Given the description of an element on the screen output the (x, y) to click on. 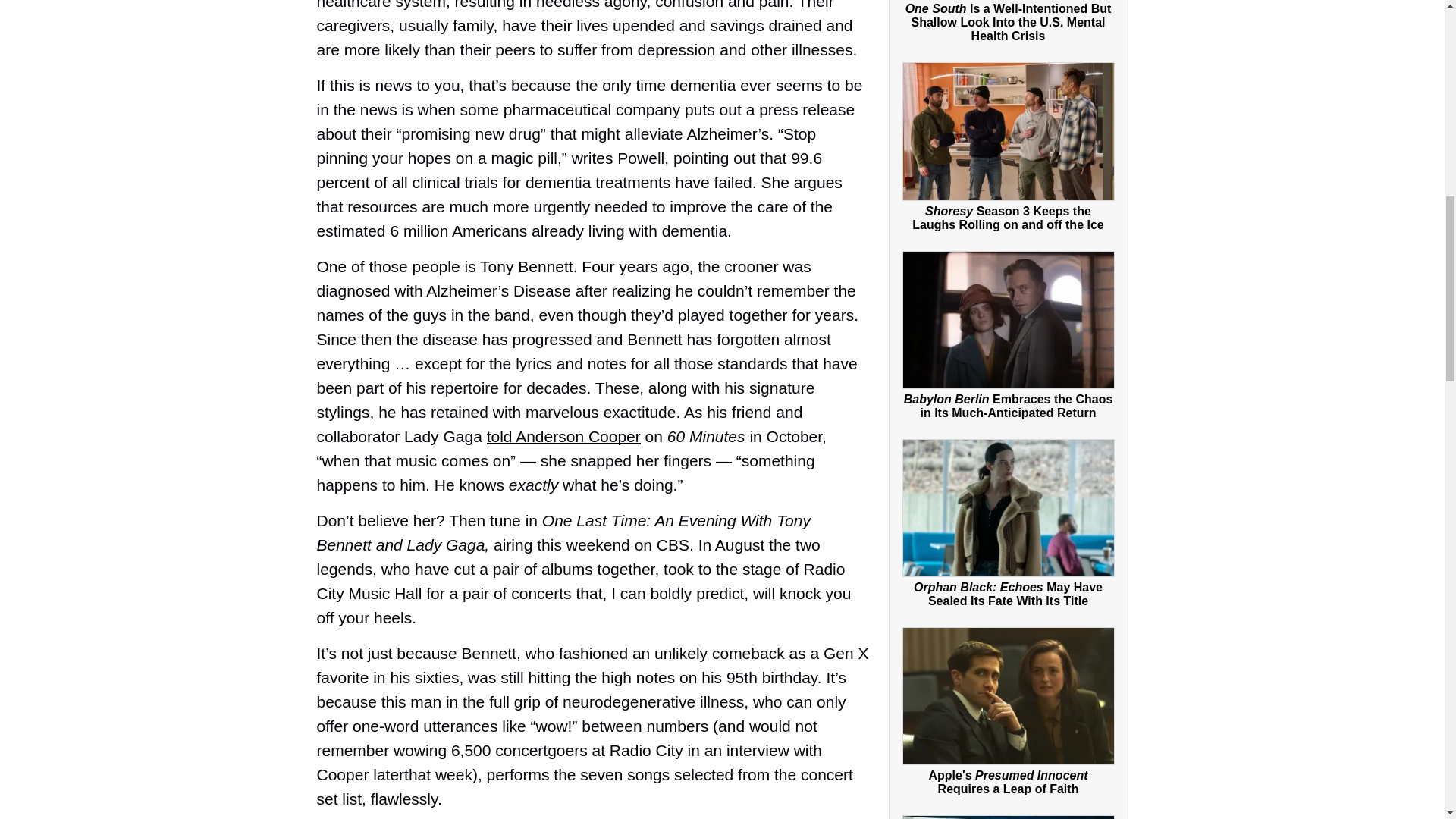
told Anderson Cooper (563, 436)
